Given the description of an element on the screen output the (x, y) to click on. 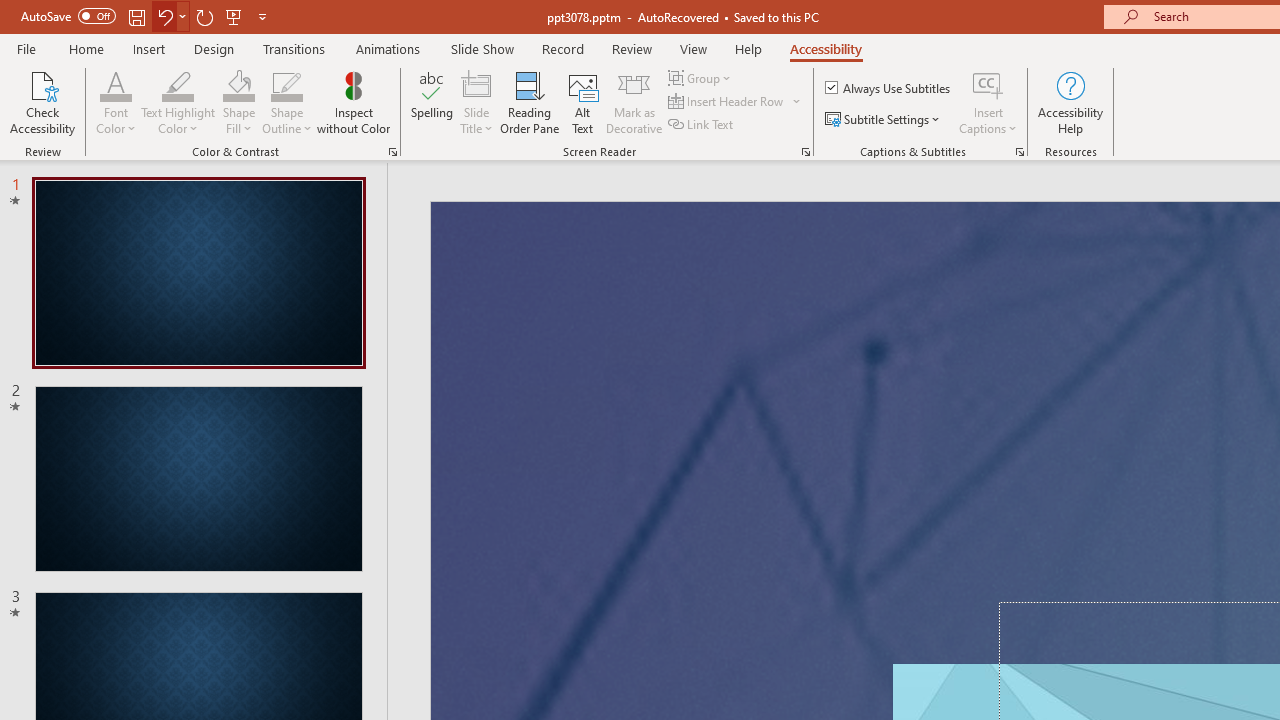
Slide Title (476, 84)
Mark as Decorative (634, 102)
Screen Reader (805, 151)
Inspect without Color (353, 102)
Always Use Subtitles (889, 87)
